Given the description of an element on the screen output the (x, y) to click on. 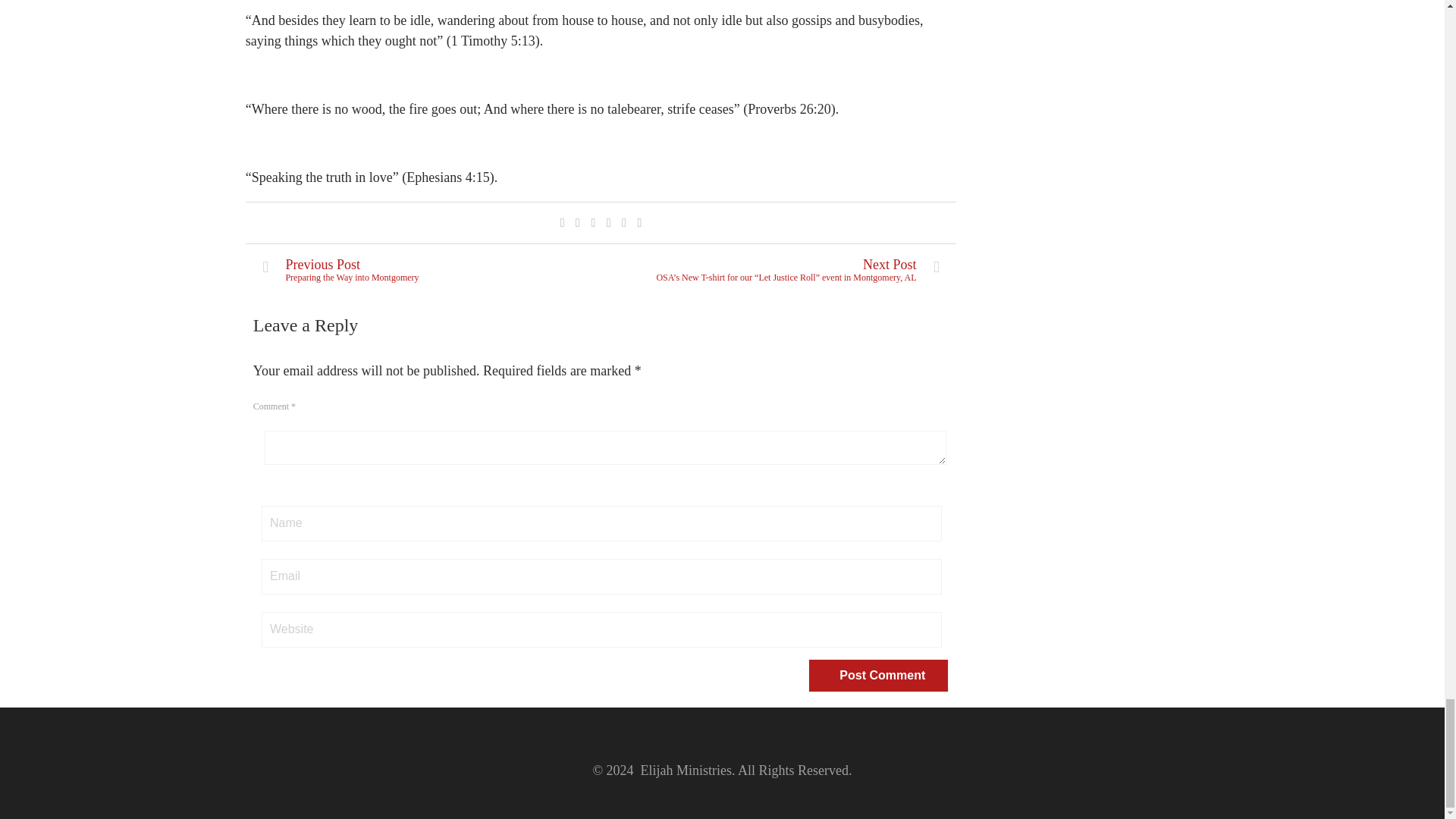
Post Comment (878, 675)
Post Comment (878, 675)
